Given the description of an element on the screen output the (x, y) to click on. 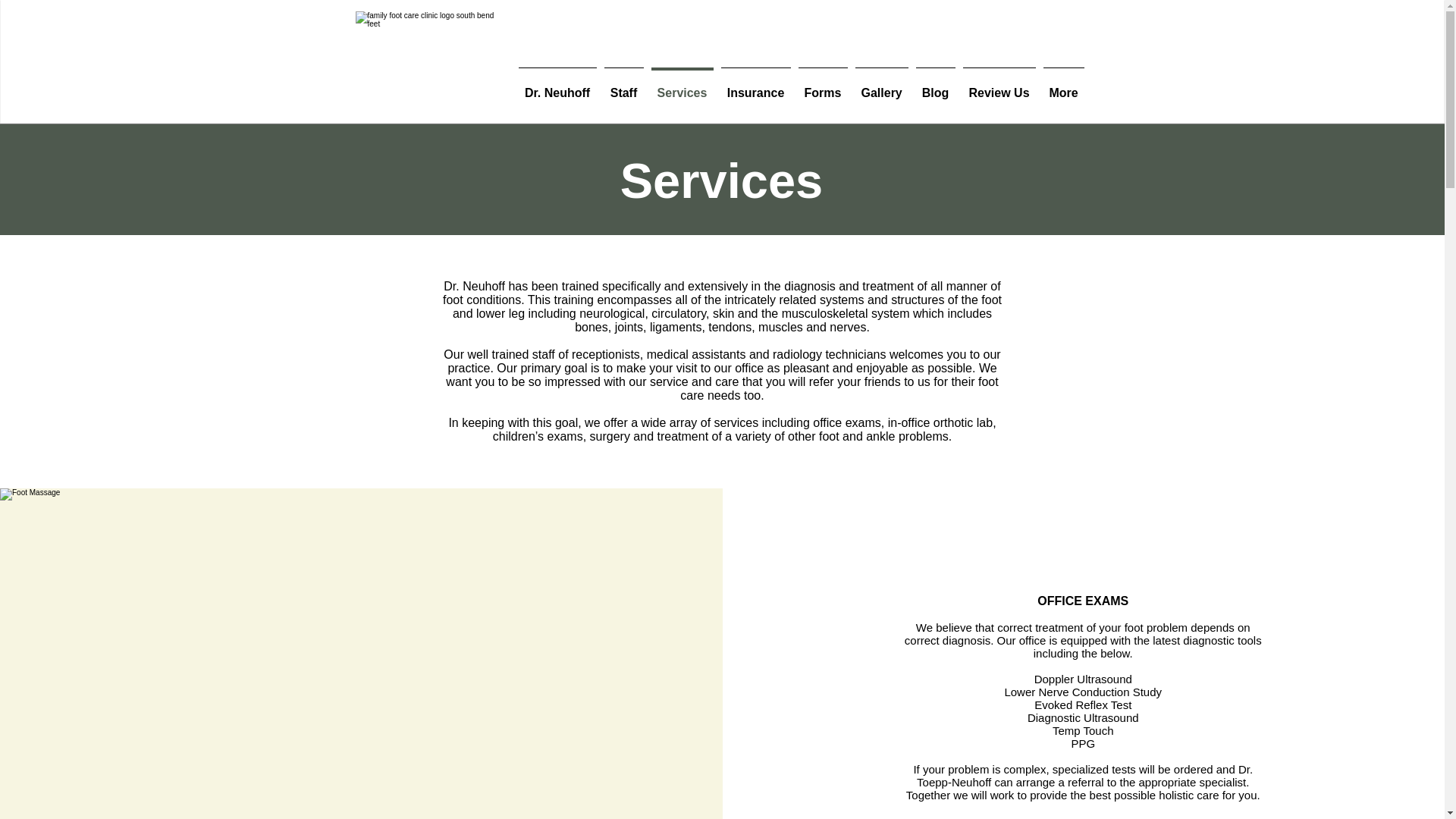
Services (682, 86)
Gallery (880, 86)
Dr. Neuhoff (556, 86)
Forms (822, 86)
Staff (623, 86)
Review Us (998, 86)
Blog (934, 86)
Insurance (755, 86)
